Given the description of an element on the screen output the (x, y) to click on. 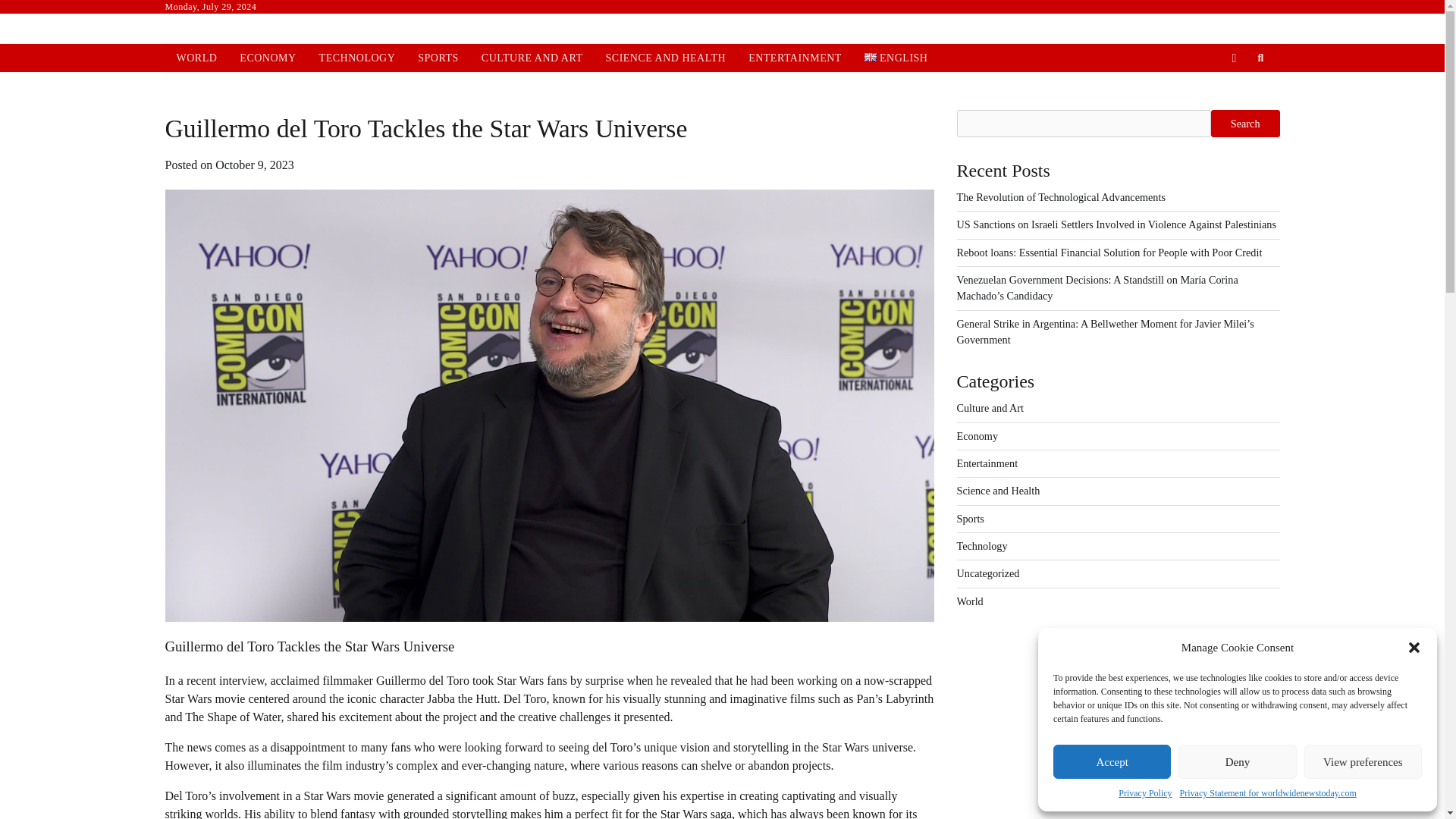
ENGLISH (896, 58)
View Random Post (1233, 57)
ENTERTAINMENT (794, 58)
ECONOMY (267, 58)
View preferences (1363, 761)
Search (1260, 57)
Accept (1111, 761)
October 9, 2023 (254, 164)
Deny (1236, 761)
SPORTS (438, 58)
Privacy Statement for worldwidenewstoday.com (1267, 793)
SCIENCE AND HEALTH (666, 58)
Privacy Policy (1145, 793)
TECHNOLOGY (357, 58)
Search (1232, 93)
